Given the description of an element on the screen output the (x, y) to click on. 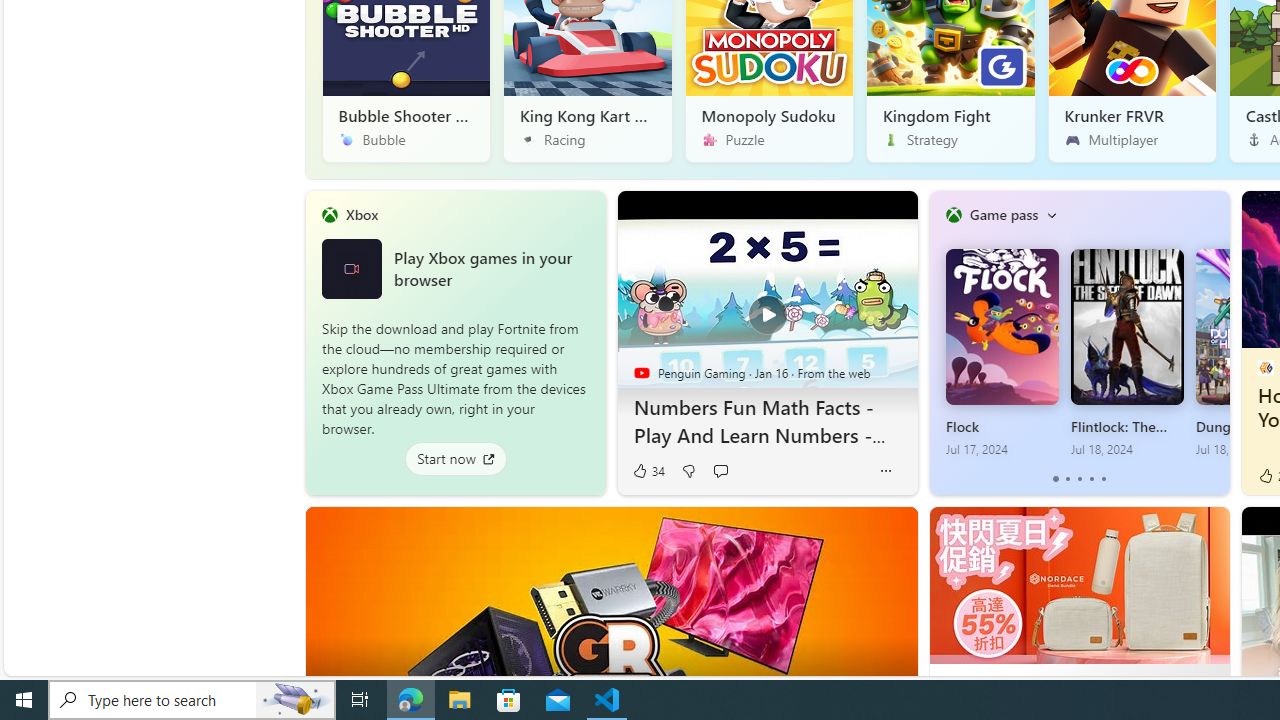
tab-0 (1055, 479)
Class: previous-flipper (939, 342)
HowToGeek (1264, 367)
Dislike (688, 471)
See more (1205, 530)
tab-3 (1091, 479)
Select Category (1051, 214)
Class: icon-img (1051, 214)
Start the conversation (720, 471)
Start the conversation (720, 470)
tab-2 (1078, 479)
Xbox (361, 214)
Xbox Logo (351, 268)
